Given the description of an element on the screen output the (x, y) to click on. 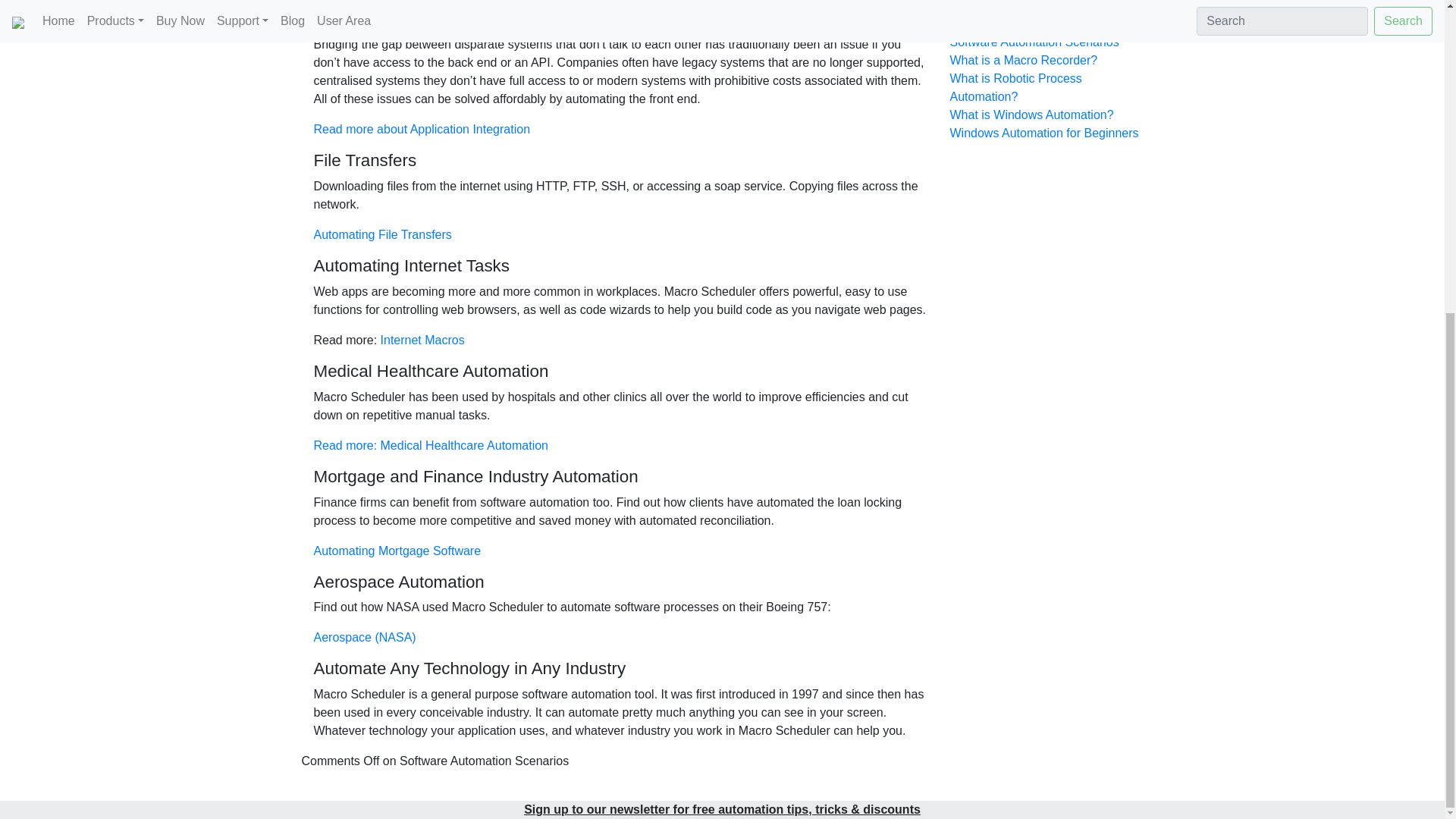
Automating Mortgage Software (397, 550)
Read more: Medical Healthcare Automation (431, 445)
Automating File Transfers (382, 234)
Internet Macros (422, 339)
Read more about Application Integration (422, 128)
